Given the description of an element on the screen output the (x, y) to click on. 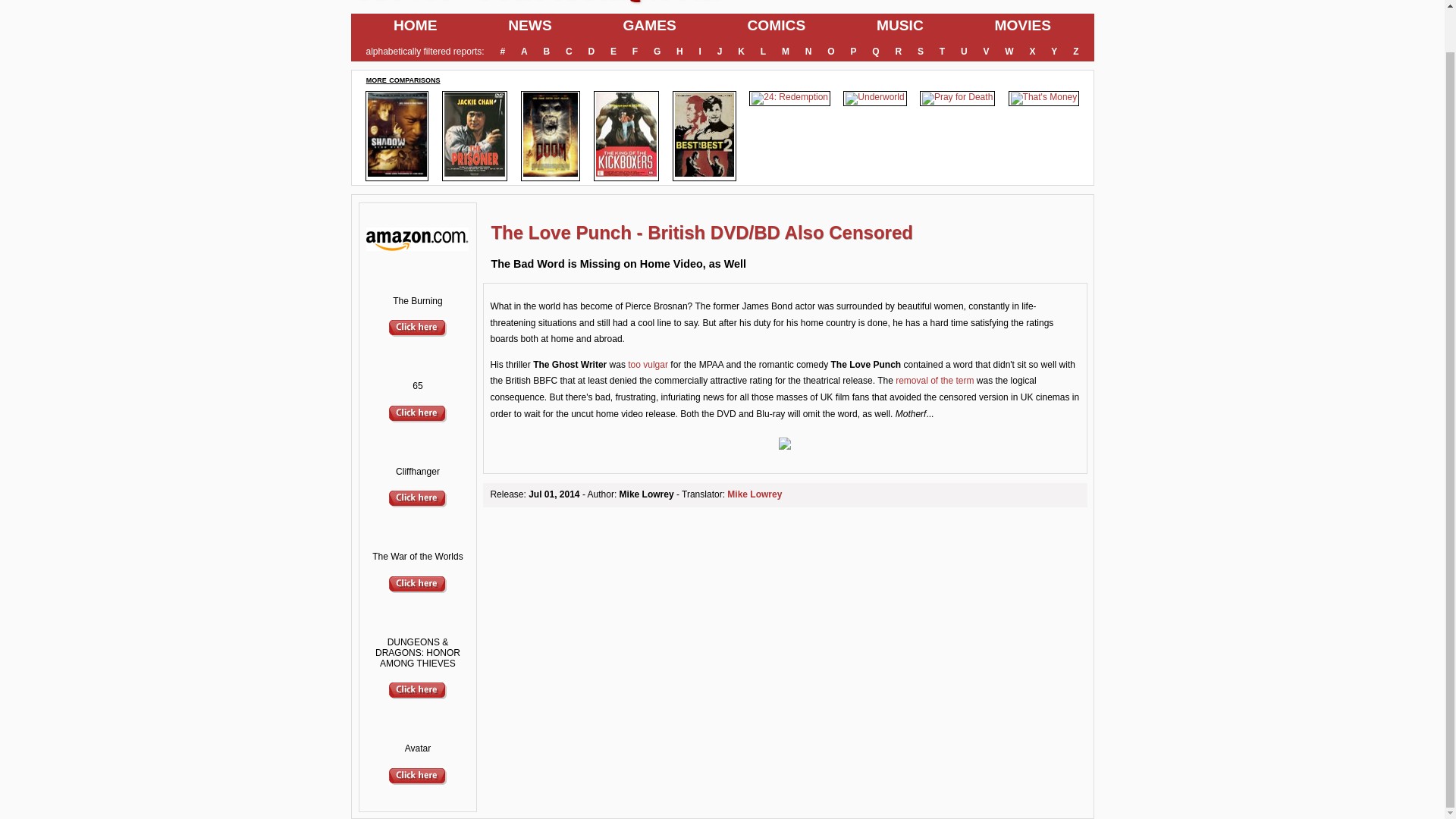
K (741, 51)
N (807, 51)
HOME (414, 25)
R (898, 51)
B (546, 51)
A (523, 51)
Y (1054, 51)
That's Money (1043, 98)
X (1032, 51)
F (634, 51)
